Given the description of an element on the screen output the (x, y) to click on. 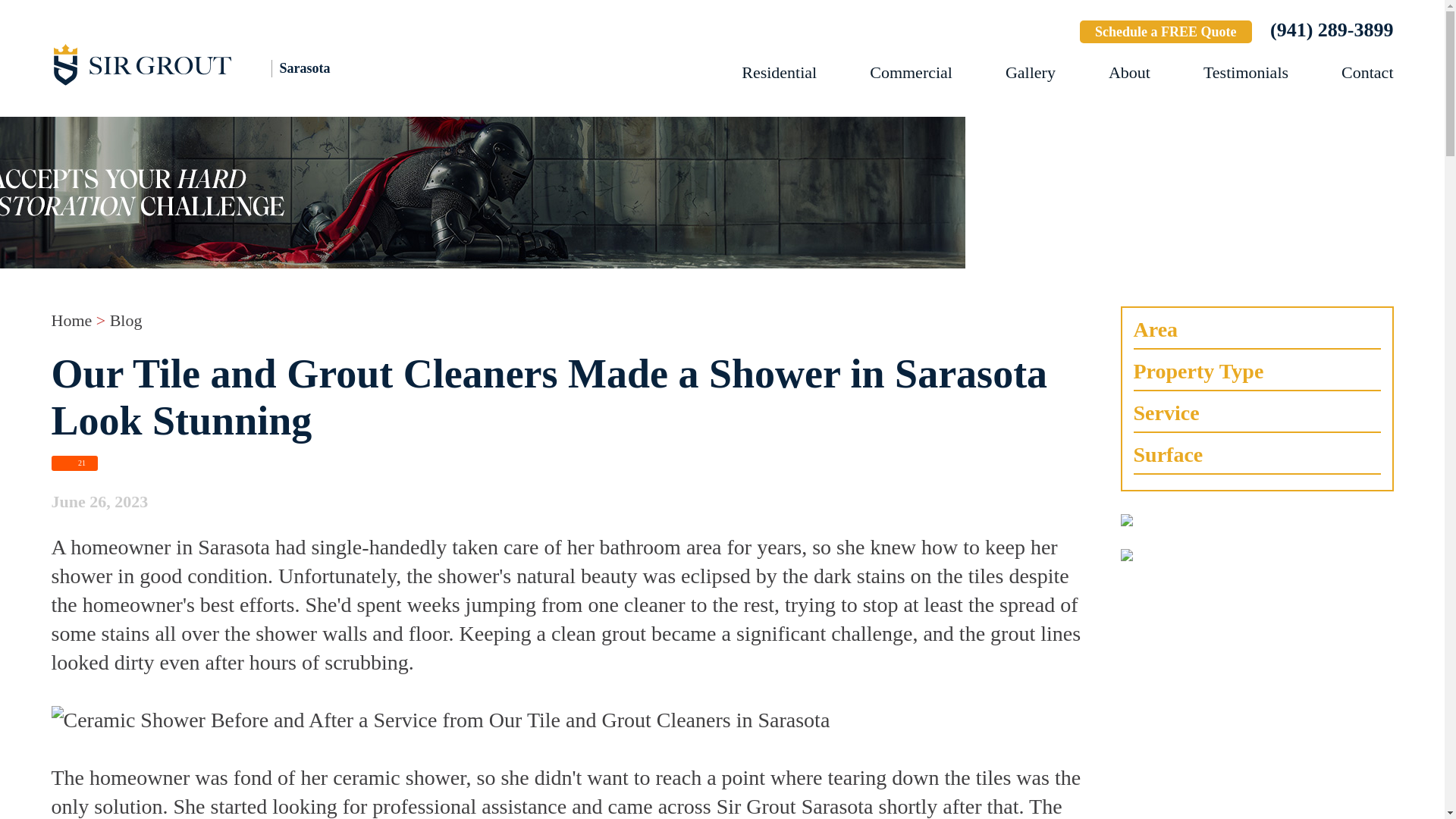
Residential (778, 72)
Residential Services (778, 72)
Call Sir Grout Sarasota (1331, 29)
Write a Review (1013, 32)
Write a Review (1013, 32)
Commercial (910, 72)
Schedule a FREE Quote (1166, 31)
Gallery (1030, 72)
Sarasota (217, 64)
Sir Grout Sarasota (217, 64)
